Given the description of an element on the screen output the (x, y) to click on. 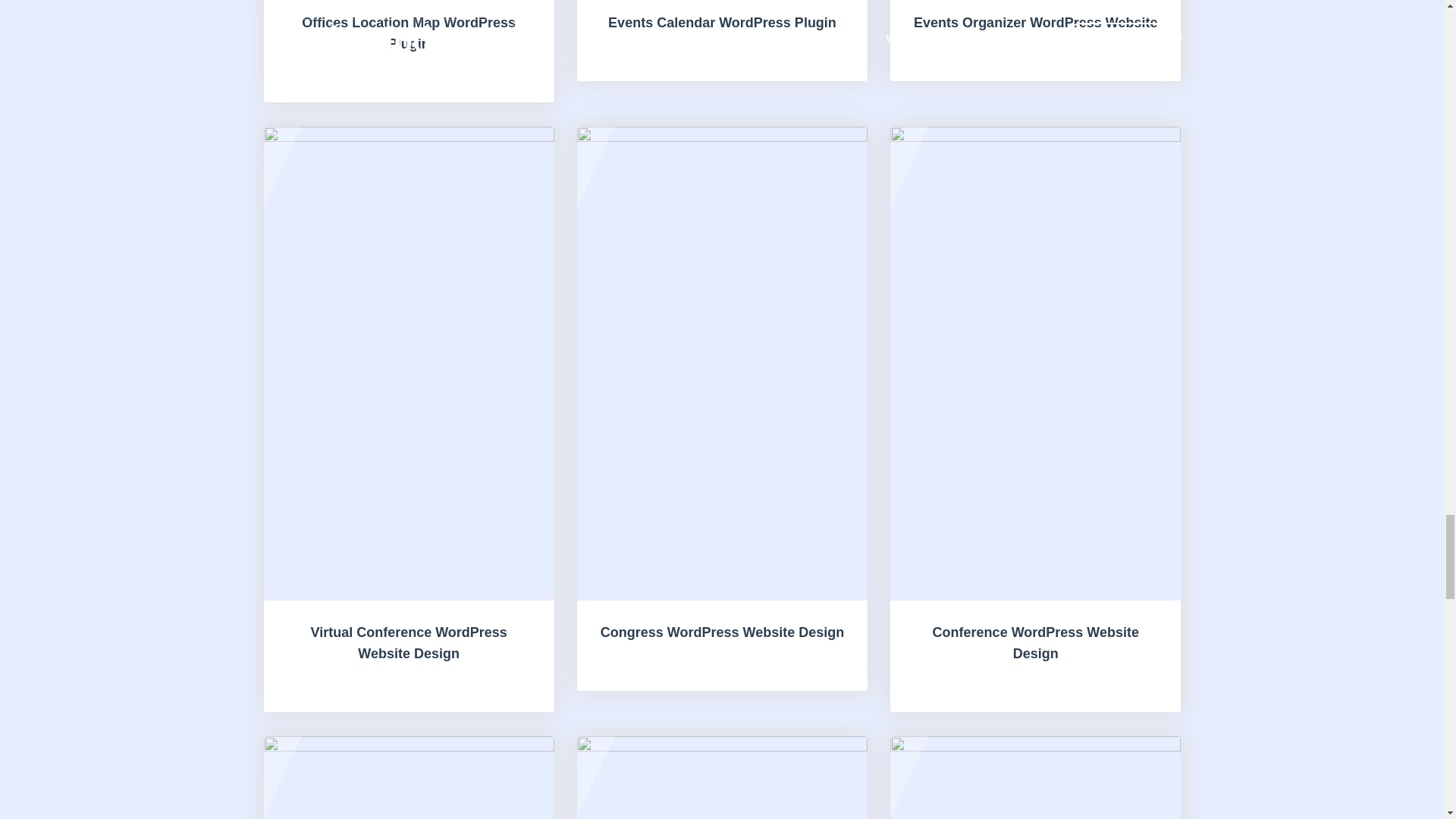
See the project (408, 51)
Offices Location Map WordPress Plugin (408, 51)
